Given the description of an element on the screen output the (x, y) to click on. 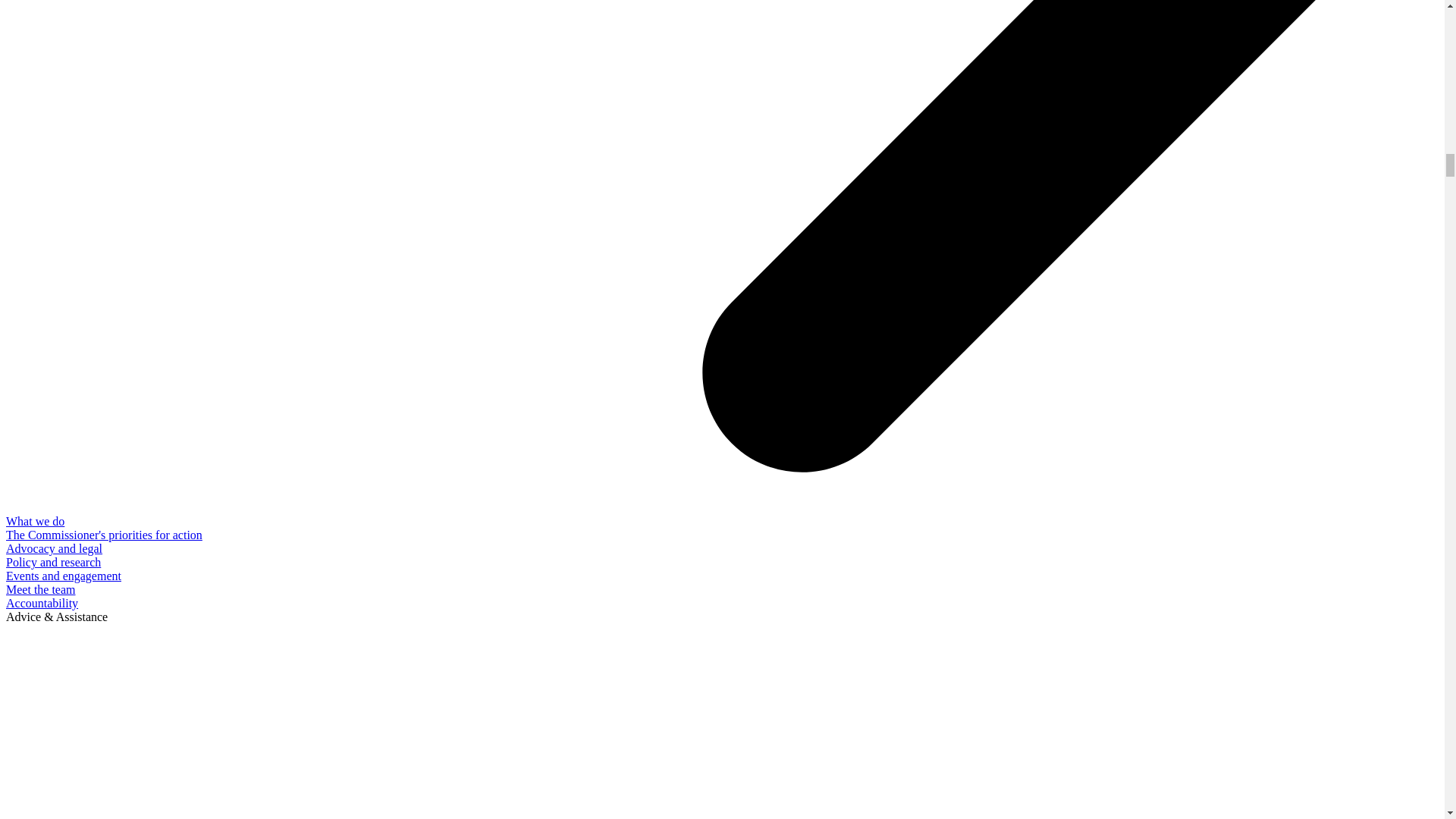
Policy and research (52, 562)
Advocacy and legal (53, 548)
Events and engagement (62, 575)
What we do (34, 521)
Meet the team (40, 589)
The Commissioner's priorities for action (103, 534)
Accountability (41, 603)
